Given the description of an element on the screen output the (x, y) to click on. 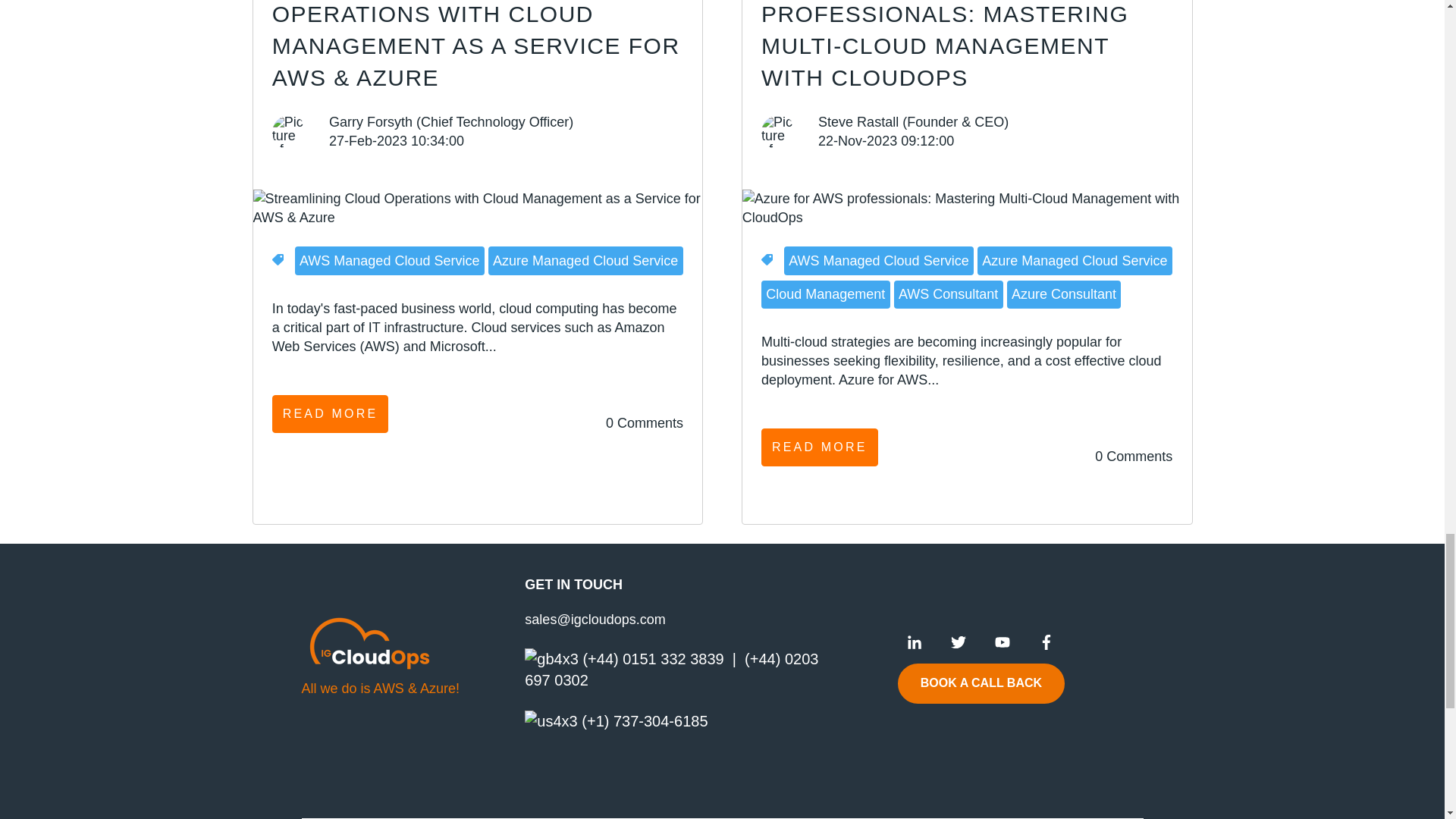
IG CloudOps logo (369, 641)
